Given the description of an element on the screen output the (x, y) to click on. 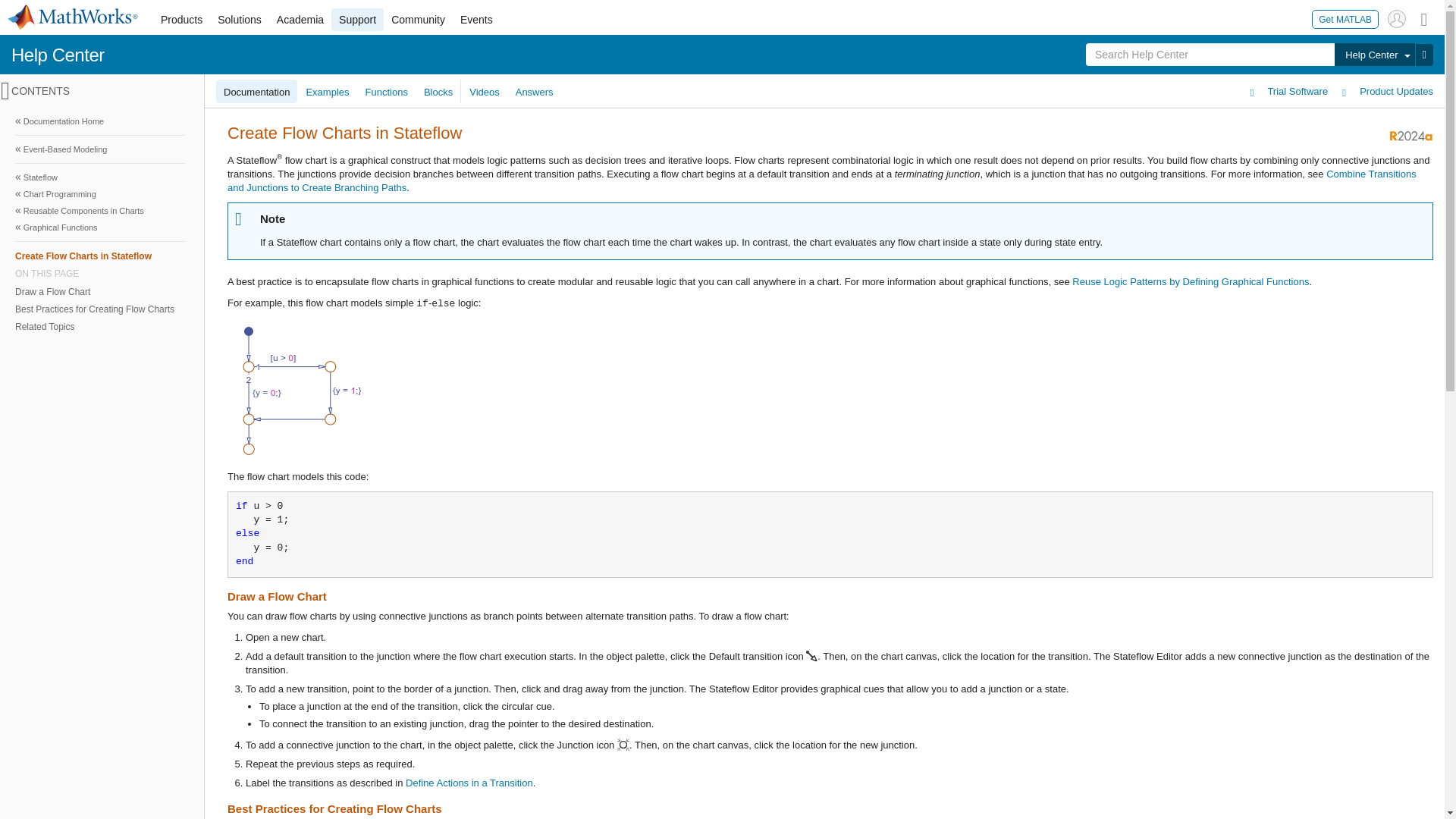
ON THIS PAGE (100, 273)
Events (476, 19)
Community (418, 19)
Solutions (239, 19)
Support (357, 19)
Sign In to Your MathWorks Account (1396, 18)
Create Flow Charts in Stateflow (100, 255)
Matrix Menu (1423, 18)
Get MATLAB (1344, 18)
